Given the description of an element on the screen output the (x, y) to click on. 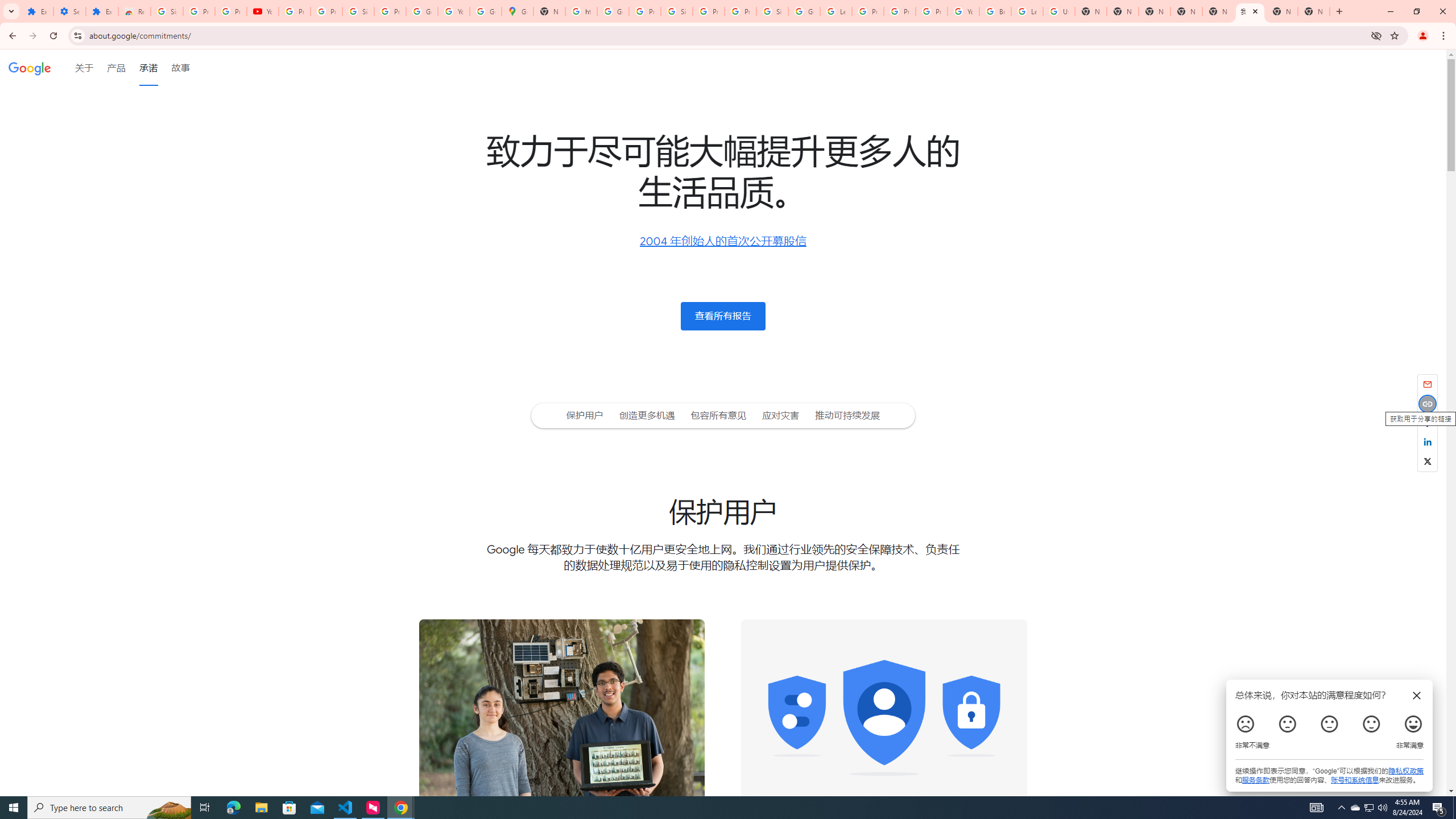
YouTube (262, 11)
Extensions (101, 11)
Sign in - Google Accounts (772, 11)
Google Account (421, 11)
Sign in - Google Accounts (676, 11)
